Given the description of an element on the screen output the (x, y) to click on. 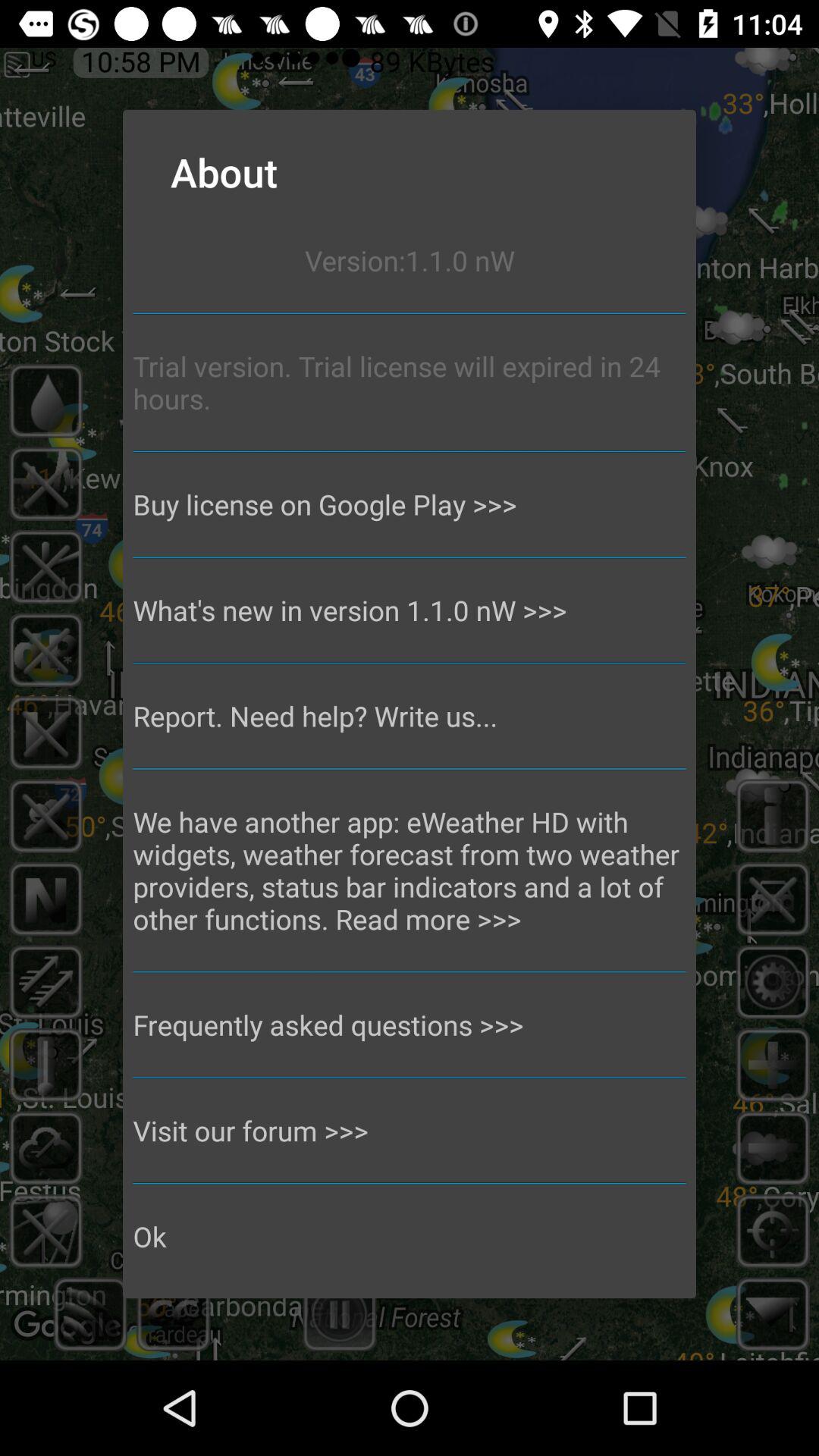
flip until report need help (409, 715)
